Given the description of an element on the screen output the (x, y) to click on. 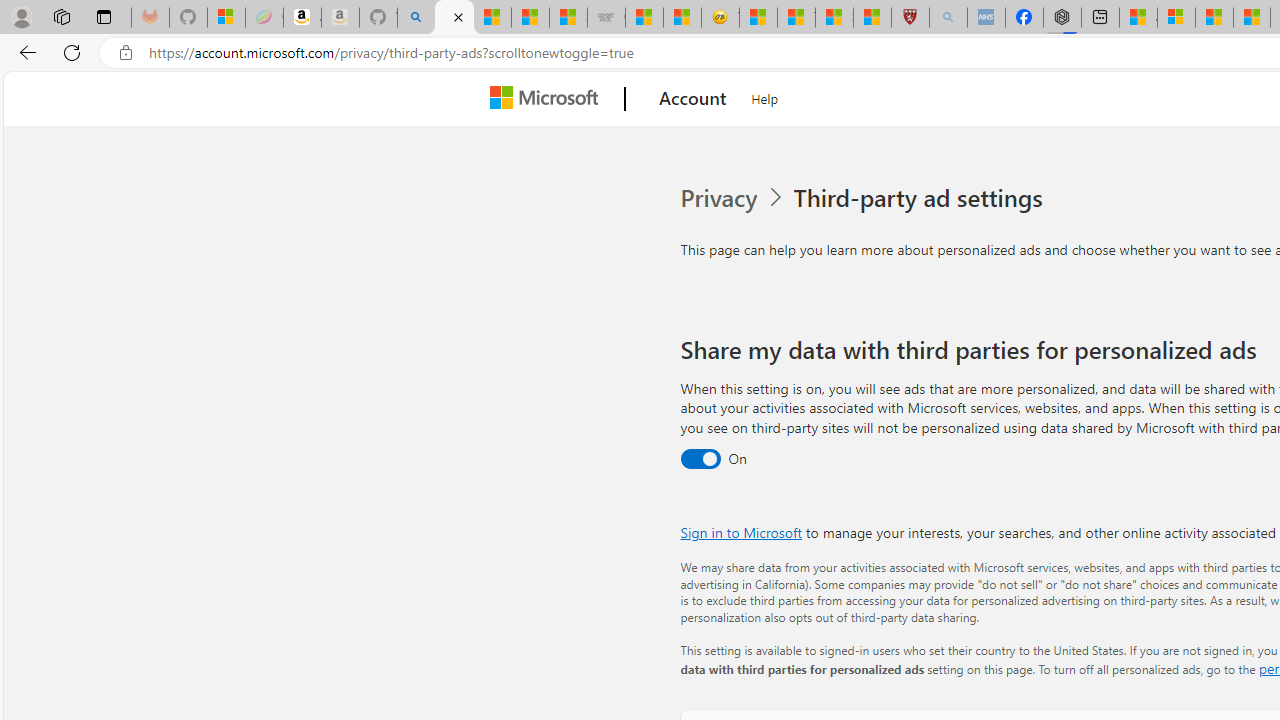
Sign in to Microsoft (740, 532)
